Given the description of an element on the screen output the (x, y) to click on. 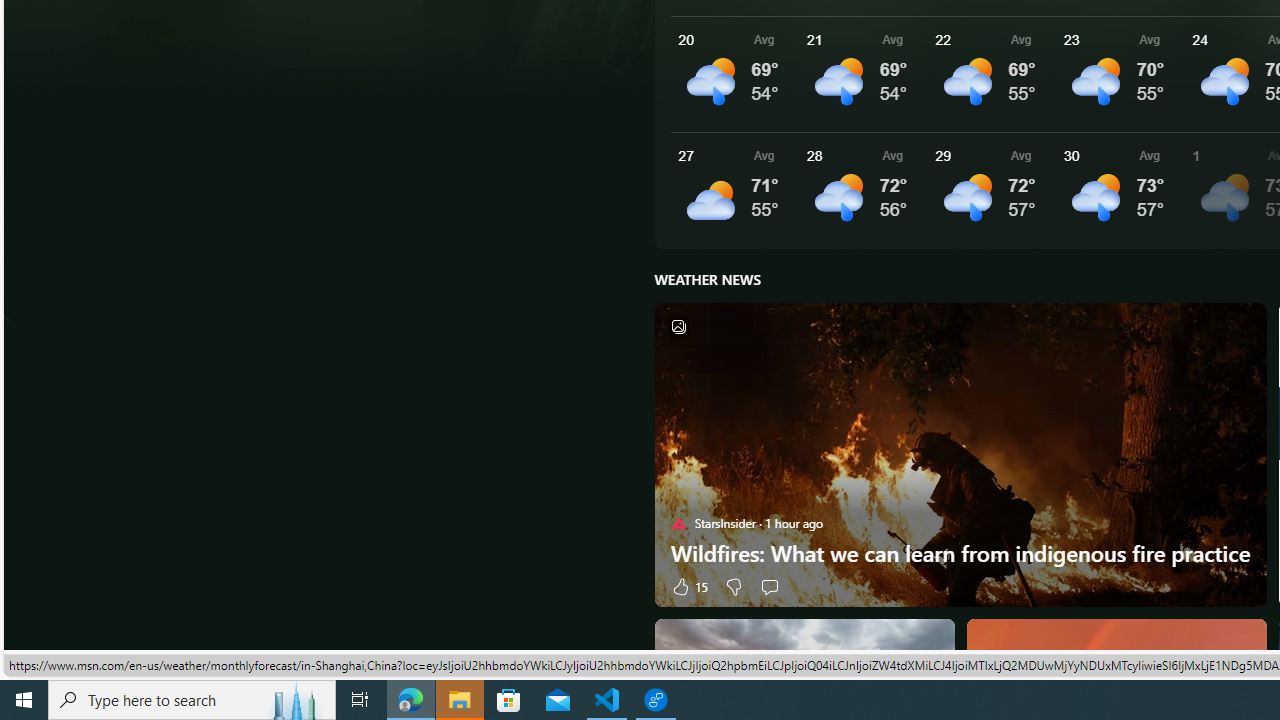
Wildfires: What we can learn from indigenous fire practice (959, 553)
15 Like (688, 586)
Start the conversation (769, 586)
Dislike (733, 586)
Start the conversation (769, 586)
